Given the description of an element on the screen output the (x, y) to click on. 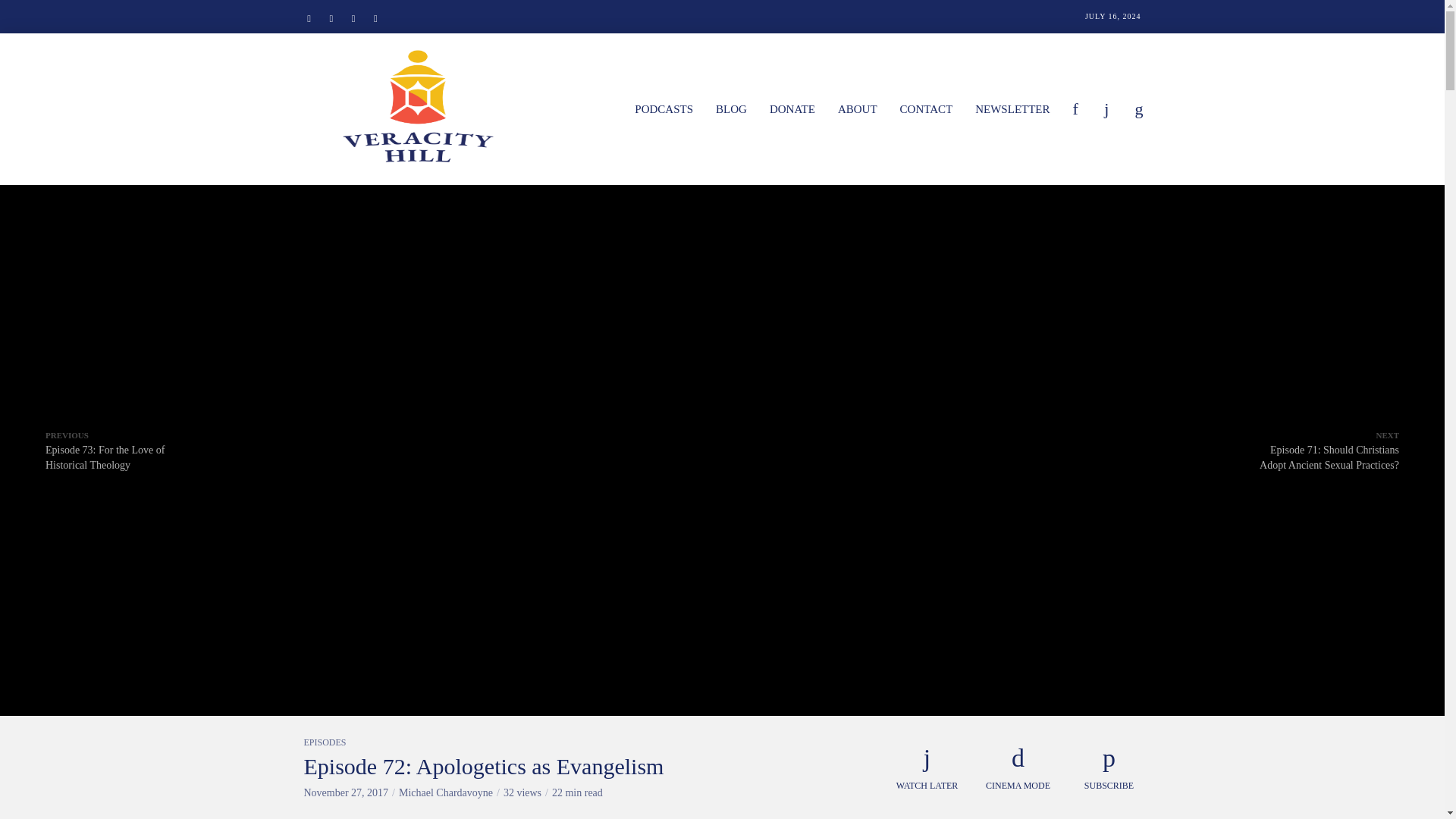
NEWSLETTER (1012, 108)
ABOUT (857, 108)
PODCASTS (663, 108)
Episode 72 - Apologetics as Evangelism (721, 272)
DONATE (792, 108)
BLOG (731, 108)
CONTACT (925, 108)
